Given the description of an element on the screen output the (x, y) to click on. 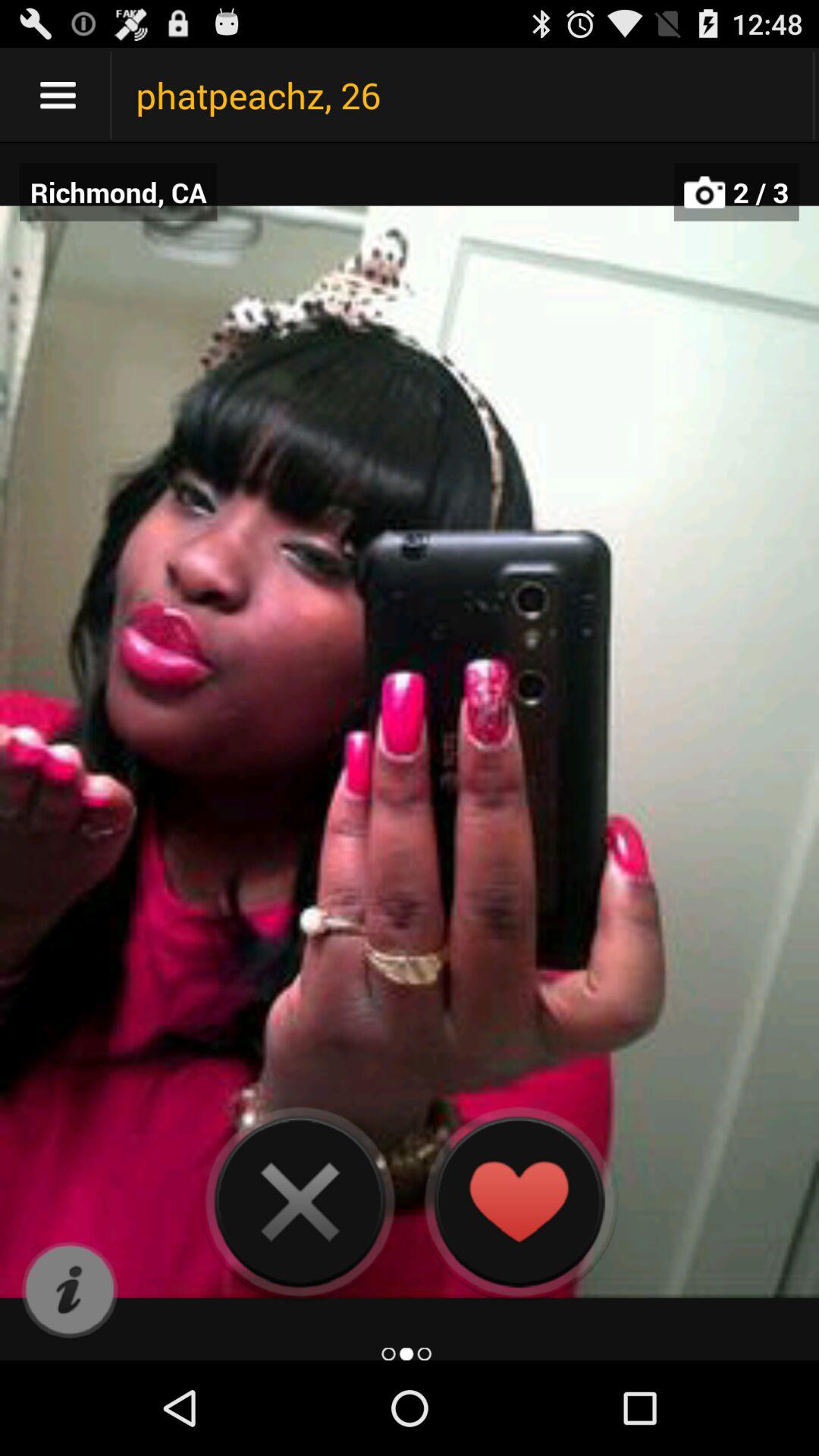
close (299, 1200)
